Given the description of an element on the screen output the (x, y) to click on. 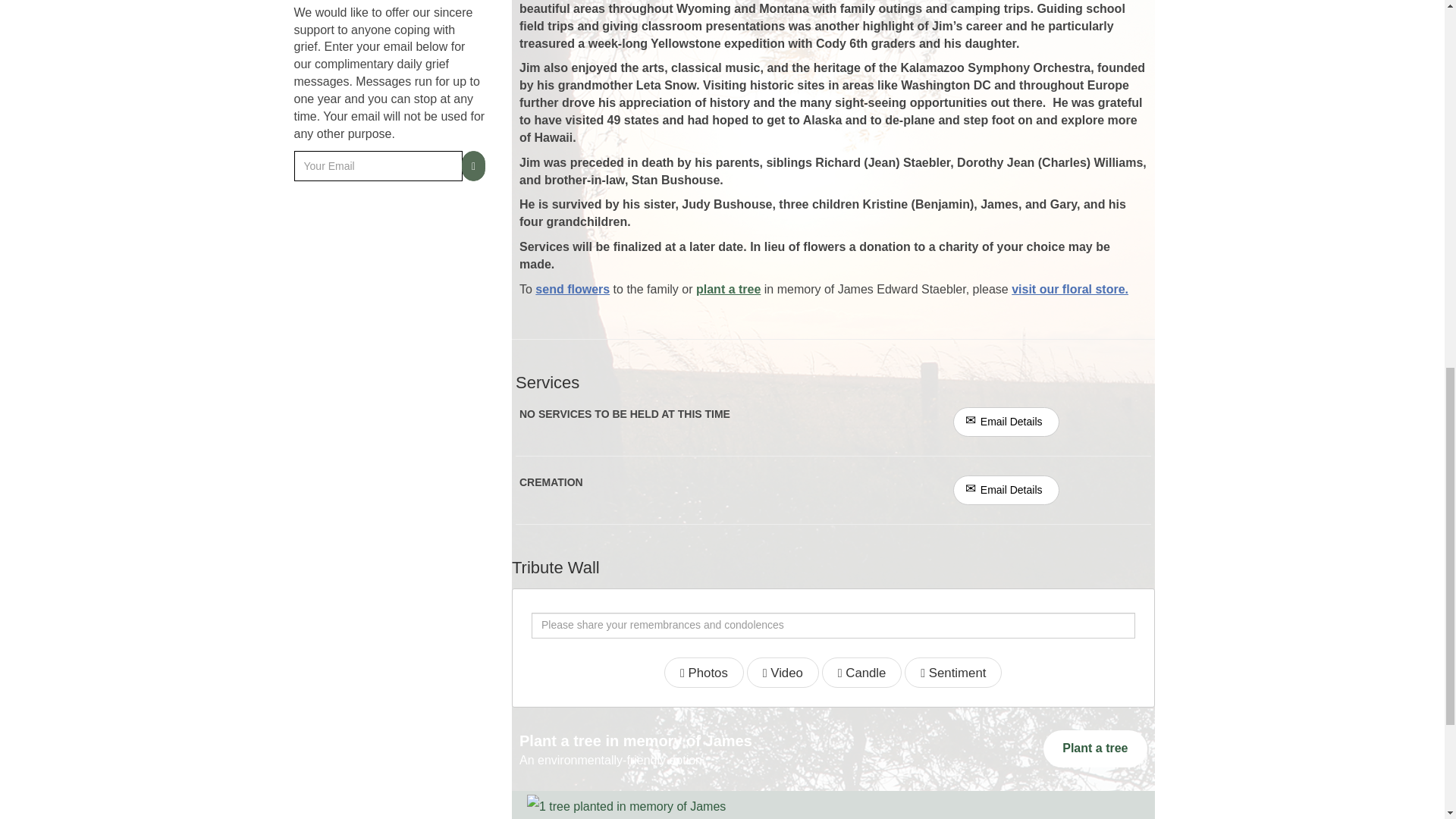
Plant a tree (1095, 748)
Email Details (1006, 490)
Plant a tree (1095, 748)
send flowers (572, 288)
Email Details (1006, 421)
plant a tree (727, 288)
visit our floral store. (1069, 288)
